Given the description of an element on the screen output the (x, y) to click on. 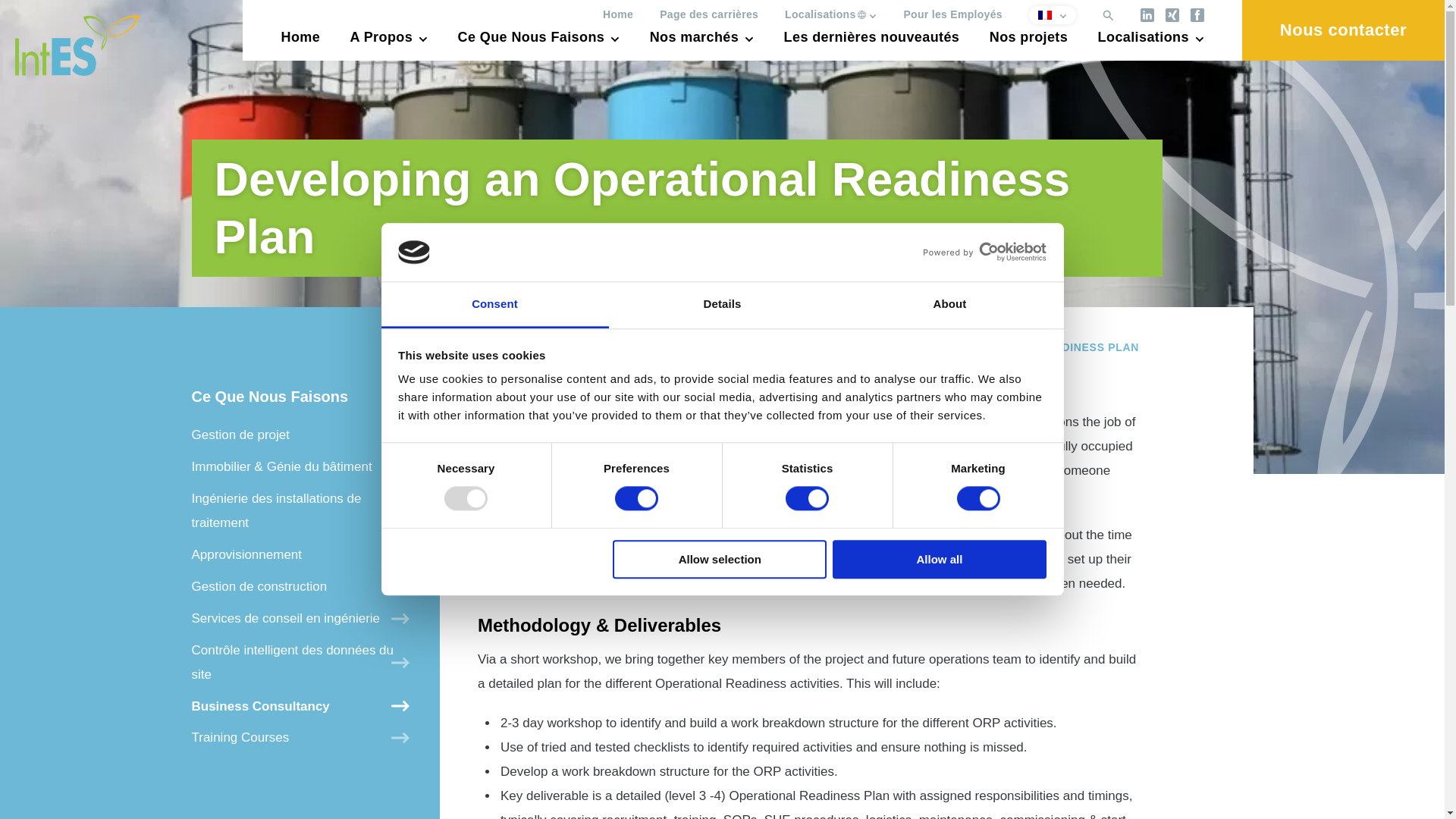
Consent (494, 304)
Home (617, 14)
About (948, 304)
Allow all (939, 558)
Allow selection (719, 558)
Details (721, 304)
